Given the description of an element on the screen output the (x, y) to click on. 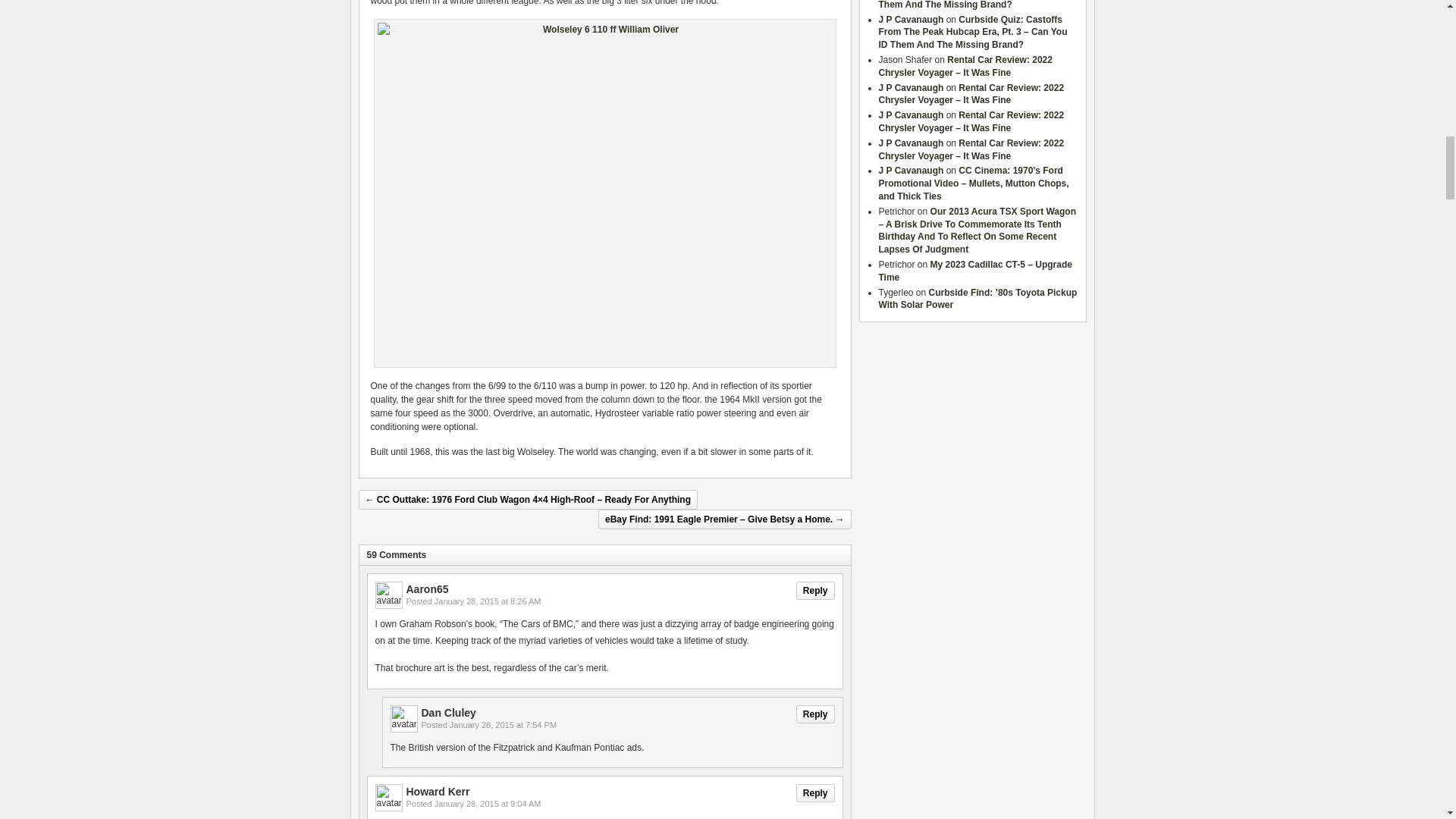
2015-01-28T08:26:03-08:00 (487, 601)
2015-01-28T19:54:06-08:00 (502, 724)
2015-01-28T09:04:18-08:00 (487, 803)
